Given the description of an element on the screen output the (x, y) to click on. 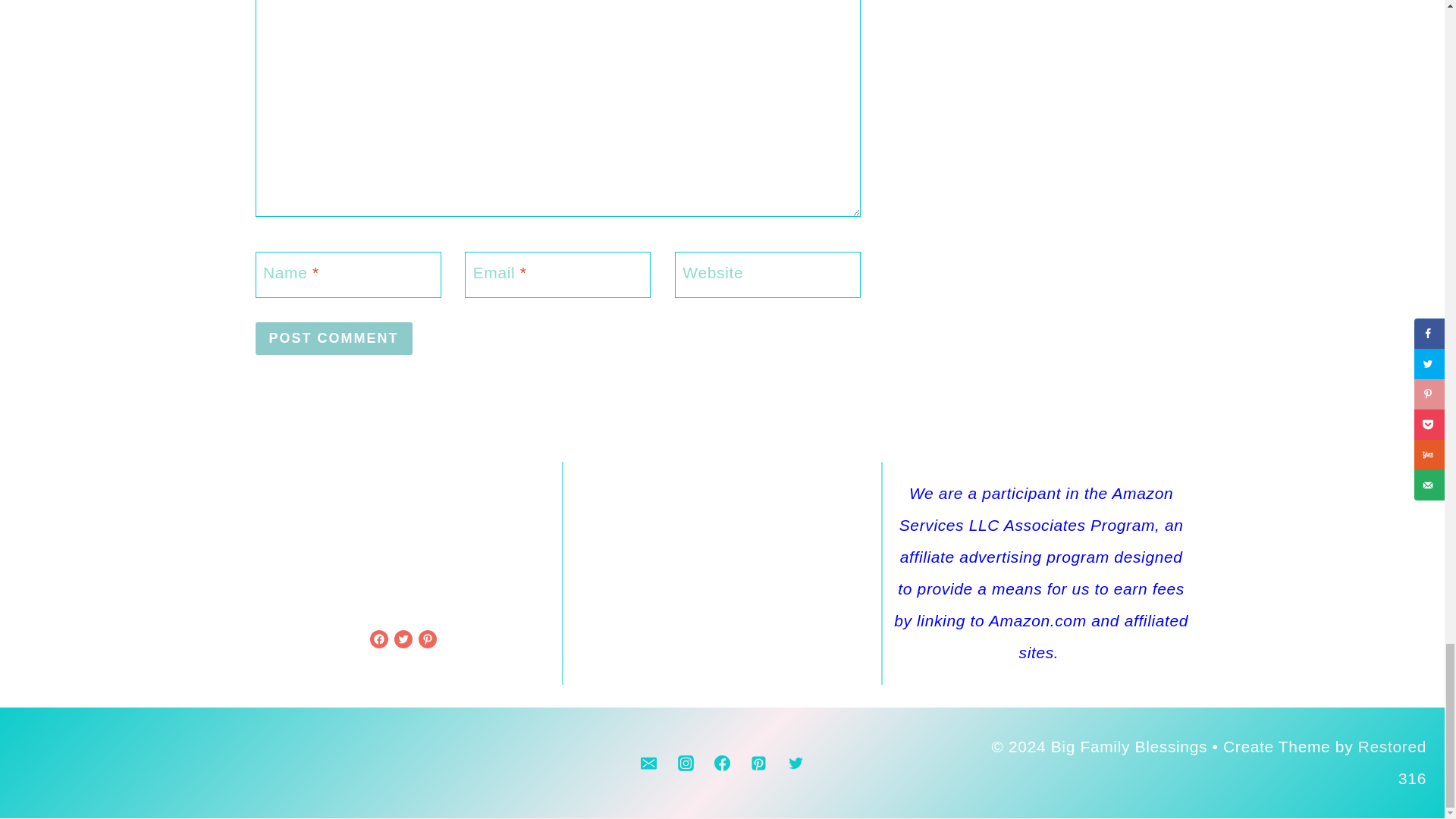
Post Comment (333, 338)
